Given the description of an element on the screen output the (x, y) to click on. 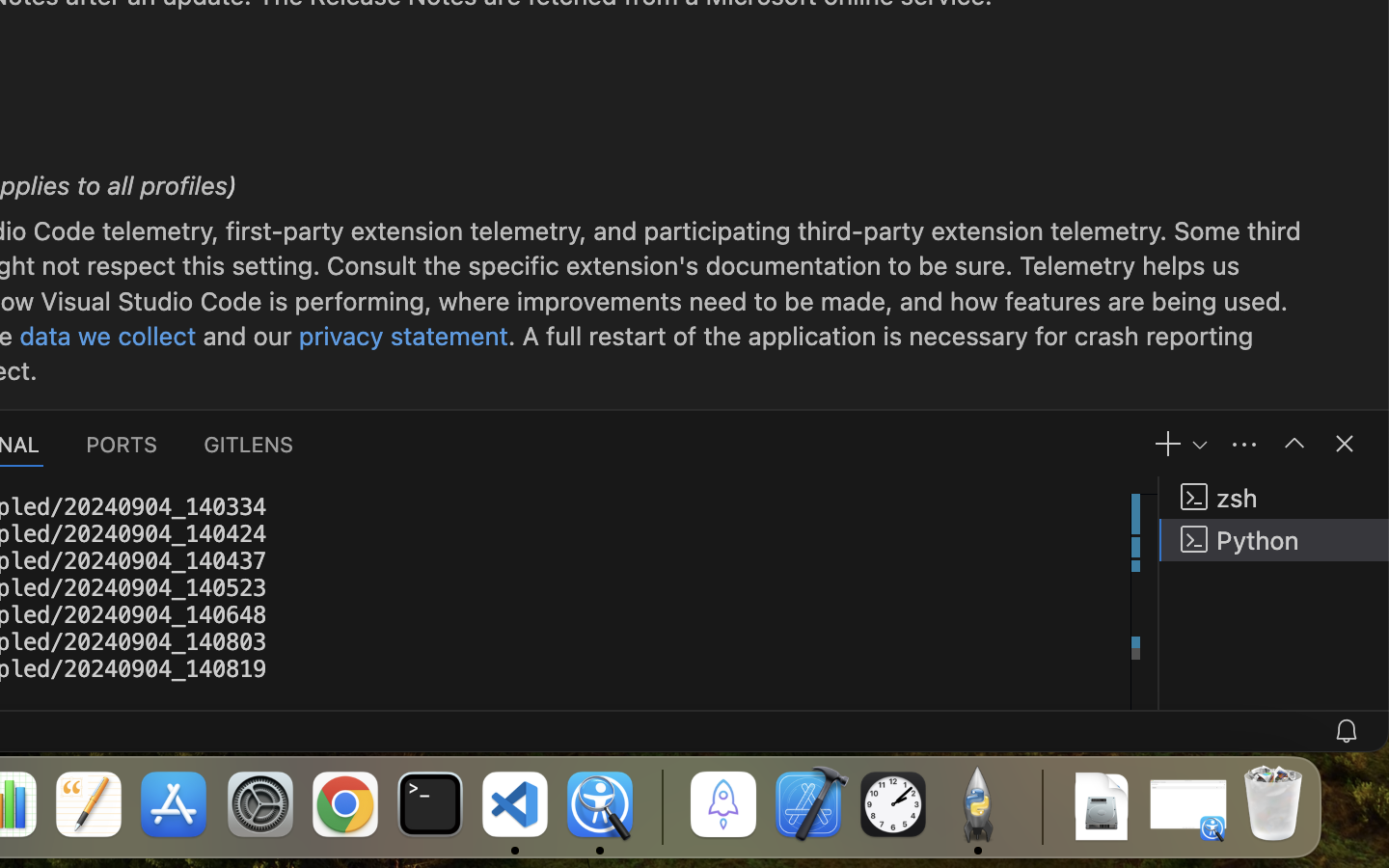
Python  Element type: AXGroup (1274, 539)
0 PORTS Element type: AXRadioButton (122, 443)
zsh  Element type: AXGroup (1274, 497)
0.4285714328289032 Element type: AXDockItem (660, 805)
 Element type: AXCheckBox (1294, 443)
